Given the description of an element on the screen output the (x, y) to click on. 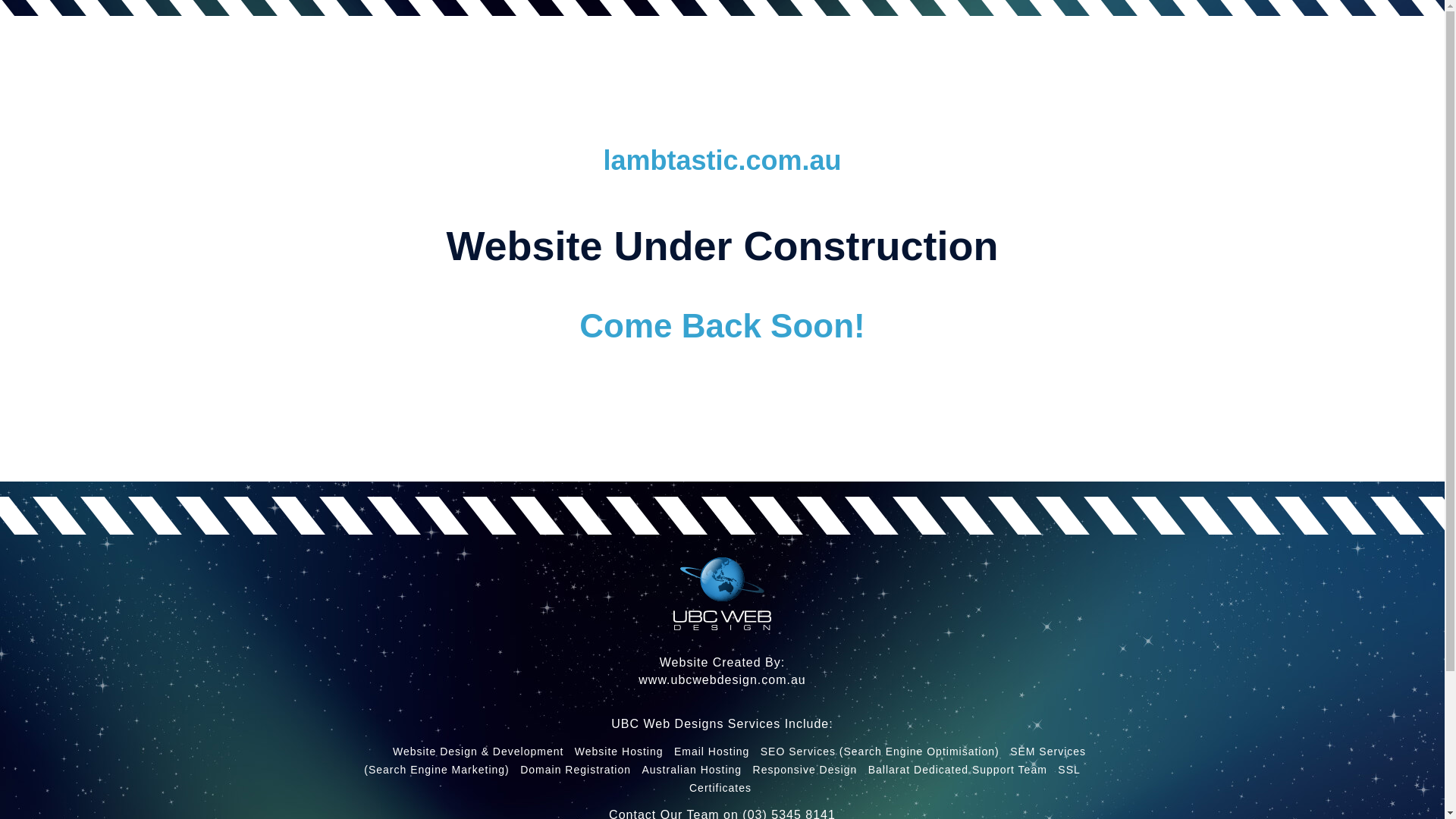
Website Design & Development Element type: text (477, 751)
Australian Hosting Element type: text (691, 769)
SSL Certificates Element type: text (884, 778)
Responsive Design Element type: text (805, 769)
Domain Registration Element type: text (575, 769)
Ballarat Dedicated Support Team Element type: text (957, 769)
SEM Services (Search Engine Marketing) Element type: text (724, 760)
Website Hosting Element type: text (618, 751)
www.ubcwebdesign.com.au Element type: text (721, 679)
Email Hosting Element type: text (711, 751)
UBC Web Design Element type: hover (722, 593)
SEO Services (Search Engine Optimisation) Element type: text (879, 751)
